Given the description of an element on the screen output the (x, y) to click on. 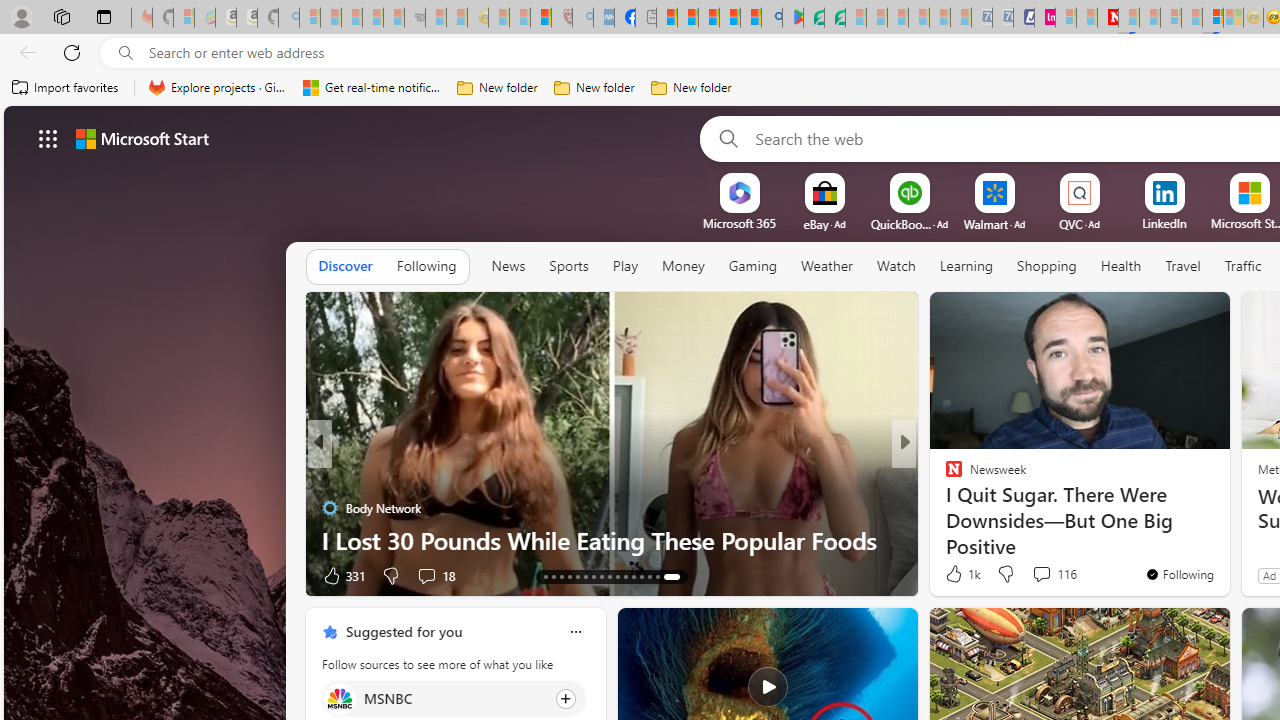
Search icon (125, 53)
Bluey: Let's Play! - Apps on Google Play (792, 17)
AutomationID: tab-25 (641, 576)
MSNBC (338, 697)
I Lost 30 Pounds While Eating These Popular Foods (611, 539)
